Given the description of an element on the screen output the (x, y) to click on. 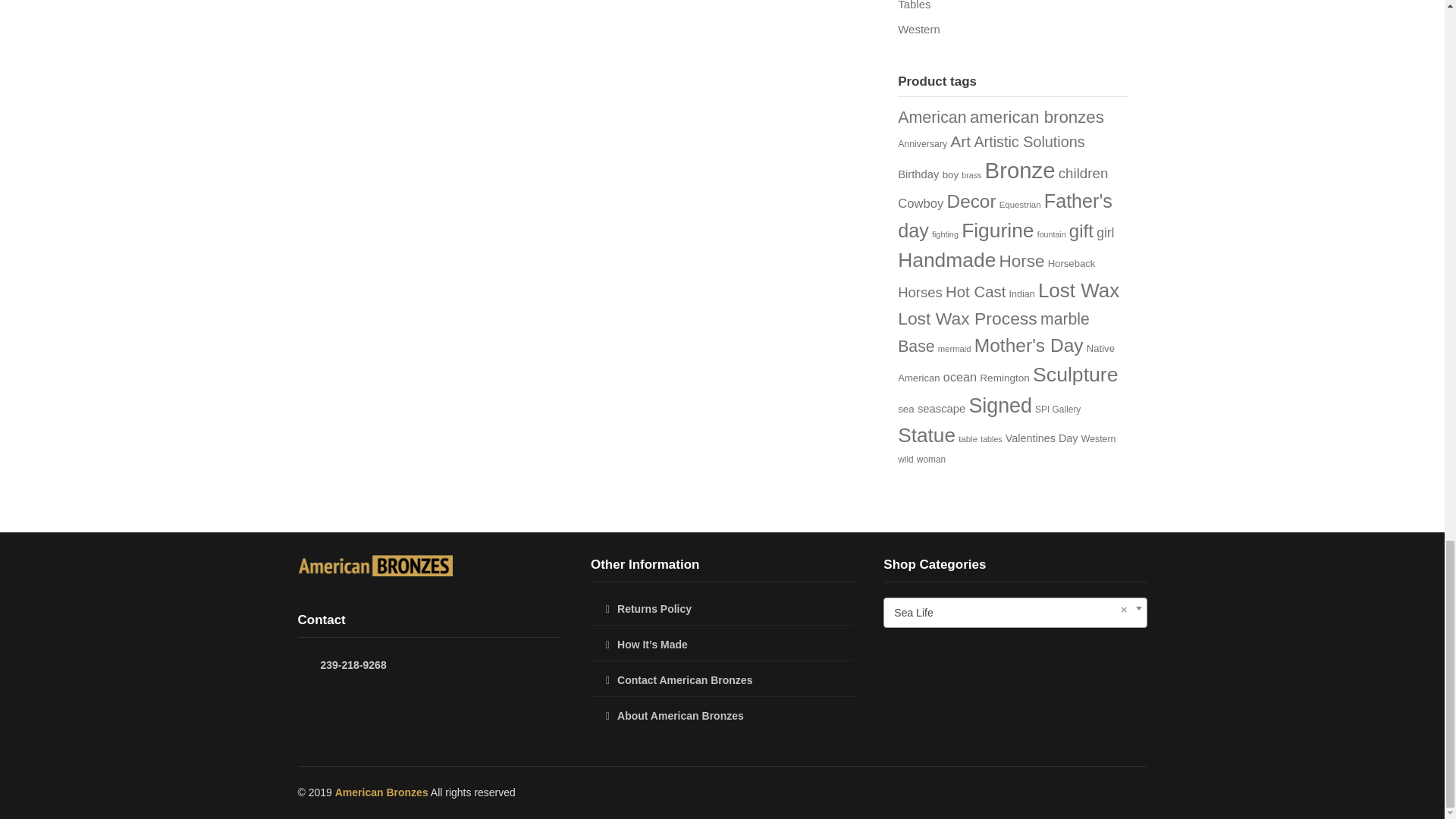
Sea Life (1014, 612)
